Given the description of an element on the screen output the (x, y) to click on. 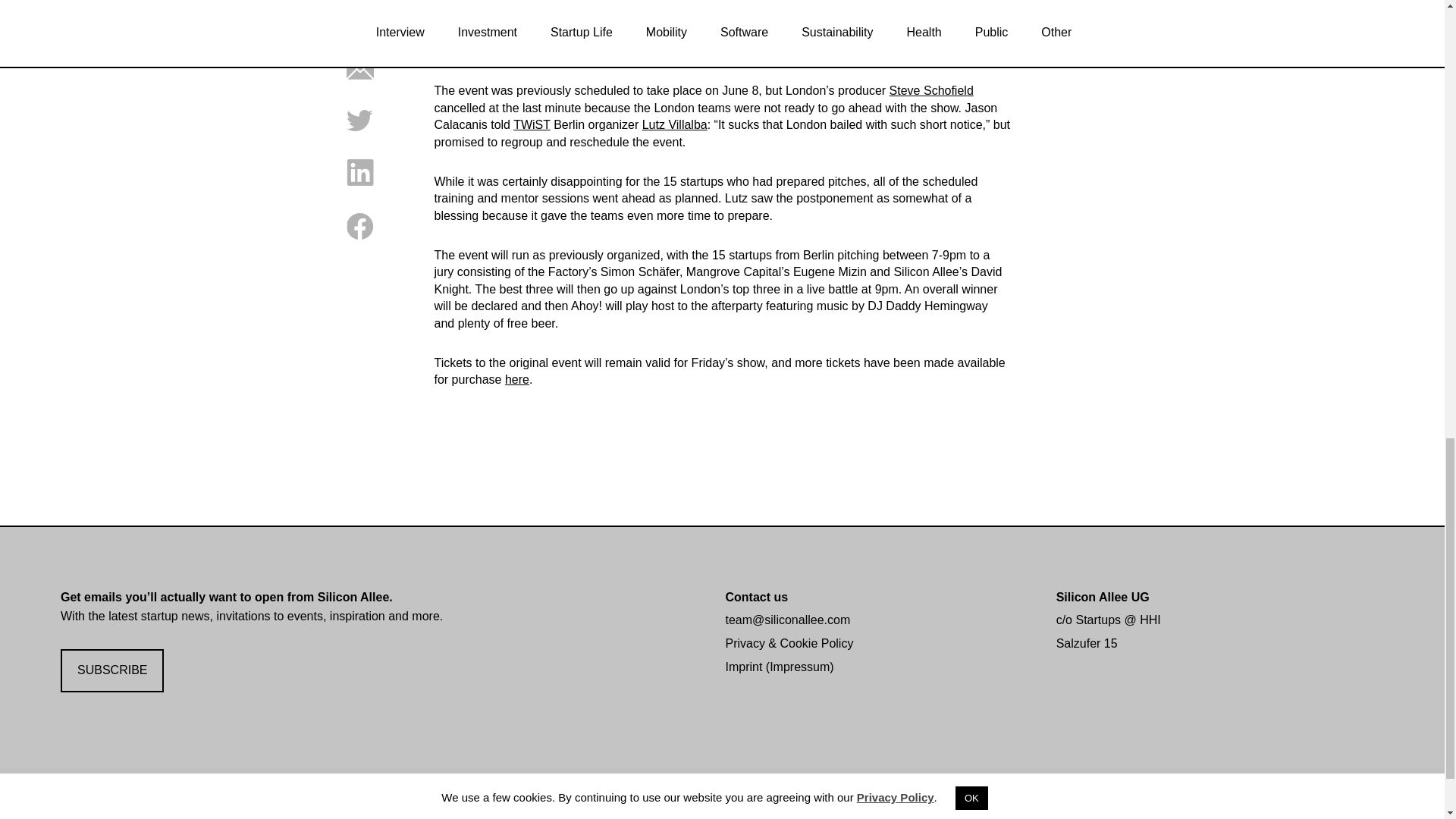
TWiST (531, 124)
Silicon Allee UG (1103, 596)
here (517, 379)
Lutz Villalba (674, 124)
SUBSCRIBE (112, 670)
Contact us (756, 596)
Salzufer 15 (1087, 643)
Steve Schofield (931, 90)
Ahoy! co-working (577, 16)
